Given the description of an element on the screen output the (x, y) to click on. 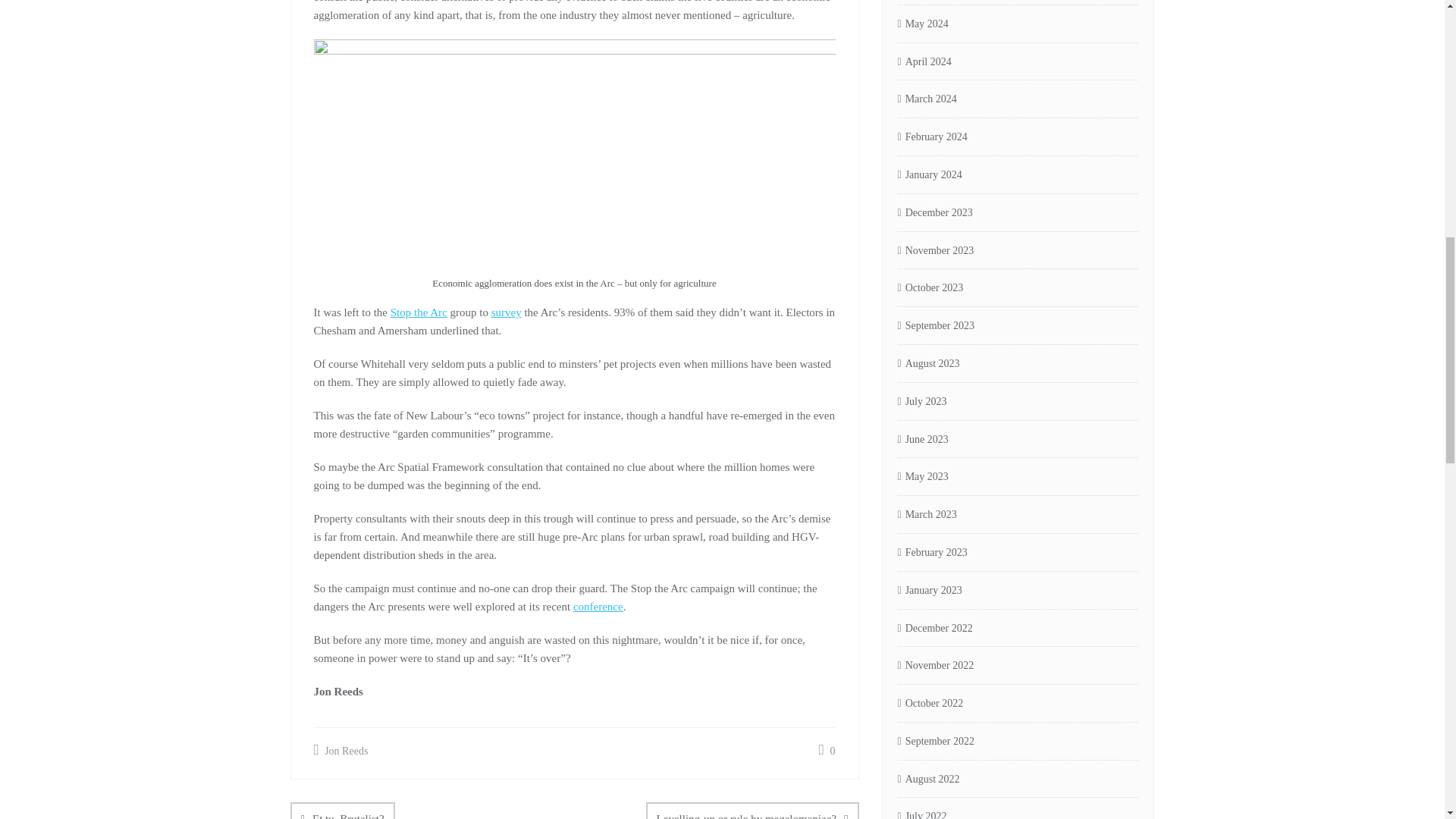
December 2023 (935, 213)
May 2023 (923, 477)
January 2023 (930, 590)
May 2024 (923, 24)
January 2024 (930, 175)
December 2022 (935, 628)
February 2024 (933, 137)
Stop the Arc (418, 312)
November 2022 (936, 666)
November 2023 (936, 250)
October 2022 (930, 703)
February 2023 (933, 553)
Et tu, Brutalist? (341, 810)
April 2024 (925, 62)
survey (506, 312)
